Given the description of an element on the screen output the (x, y) to click on. 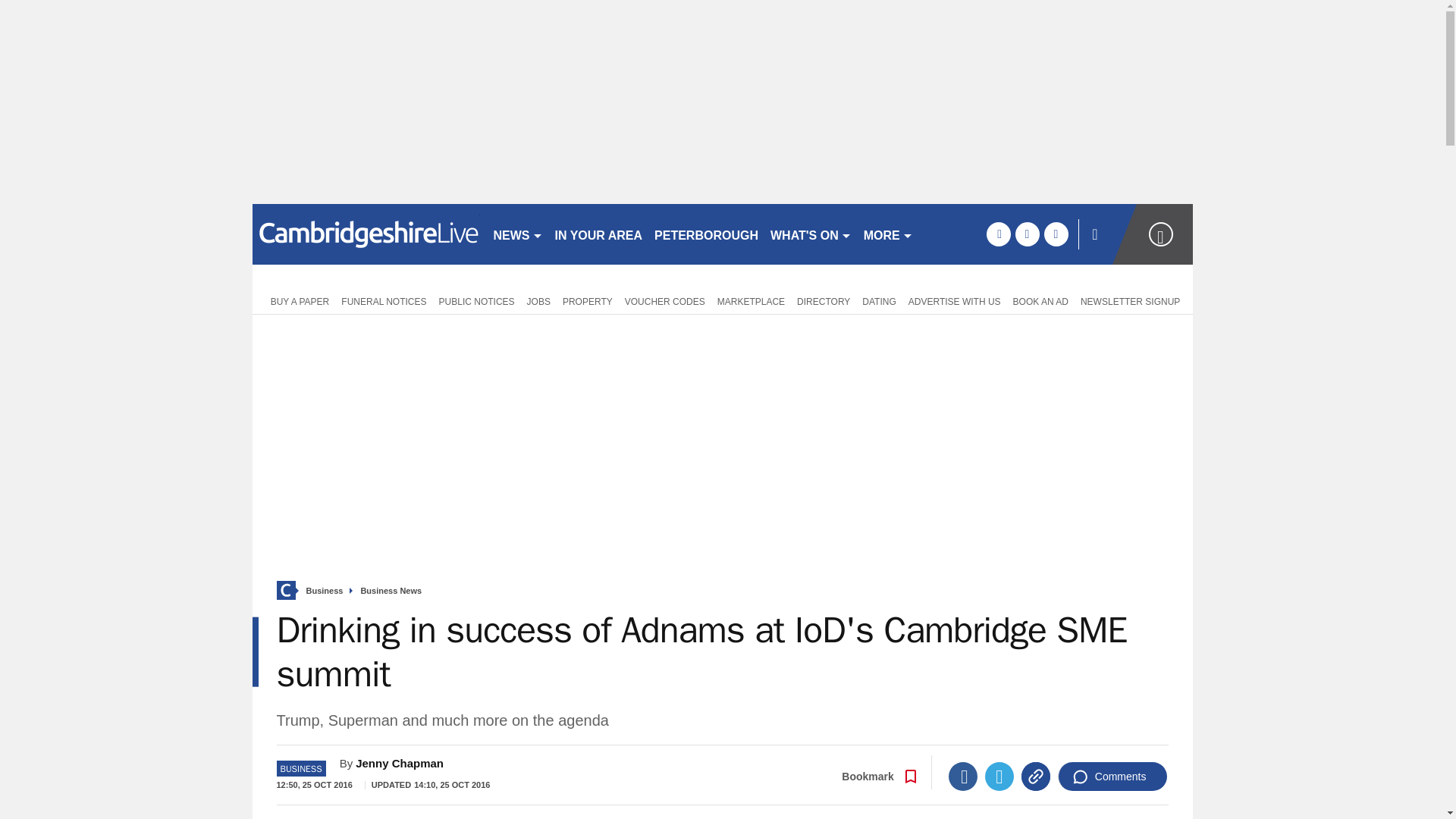
WHAT'S ON (810, 233)
Facebook (962, 776)
NEWS (517, 233)
Twitter (999, 776)
cambridgenews (365, 233)
IN YOUR AREA (598, 233)
Comments (1112, 776)
PETERBOROUGH (705, 233)
instagram (1055, 233)
MORE (887, 233)
